Given the description of an element on the screen output the (x, y) to click on. 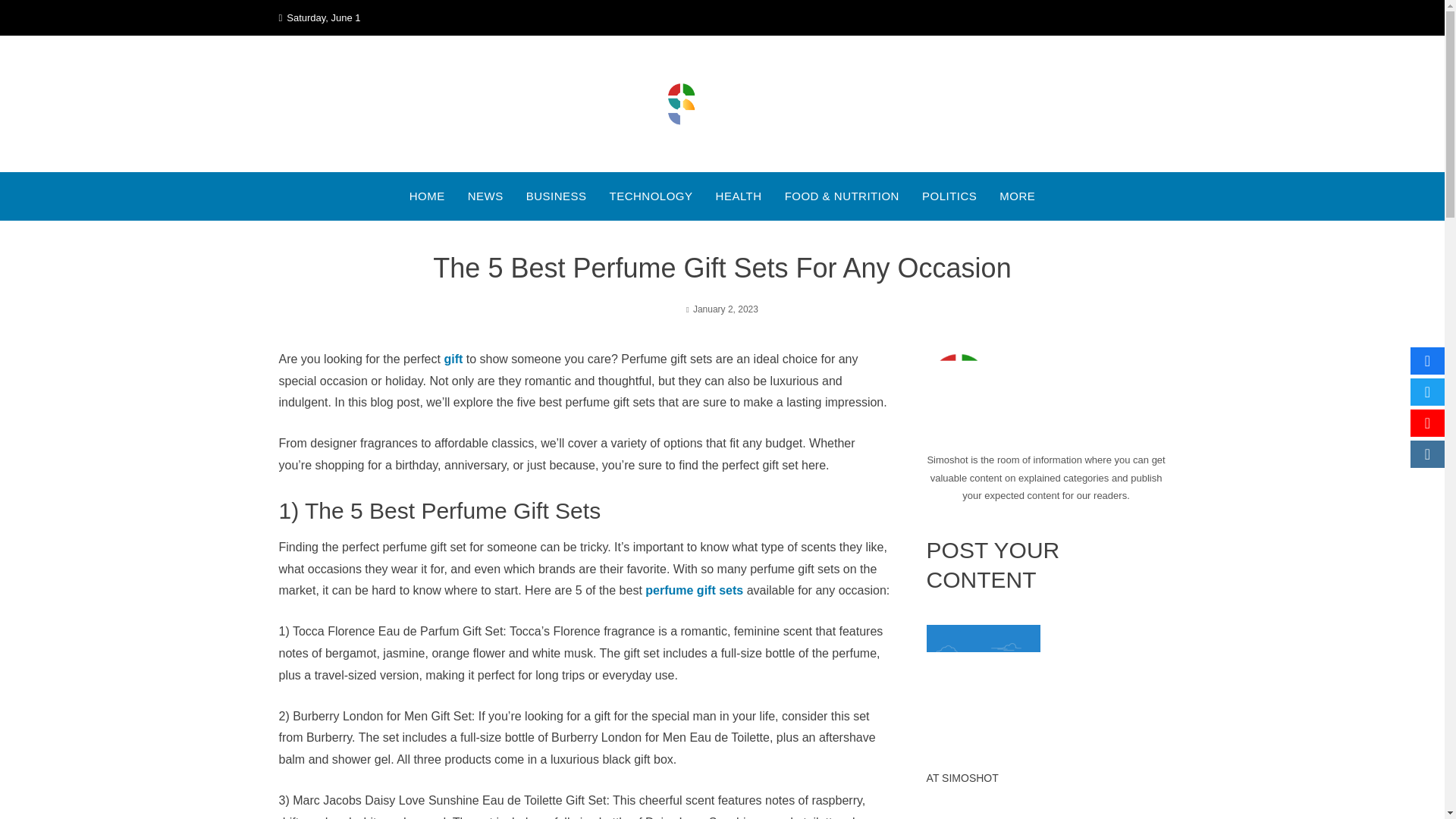
HEALTH (738, 196)
BUSINESS (555, 196)
MORE (1016, 196)
HOME (427, 196)
gift (453, 358)
NEWS (485, 196)
POLITICS (948, 196)
TECHNOLOGY (651, 196)
perfume gift sets (693, 590)
